Given the description of an element on the screen output the (x, y) to click on. 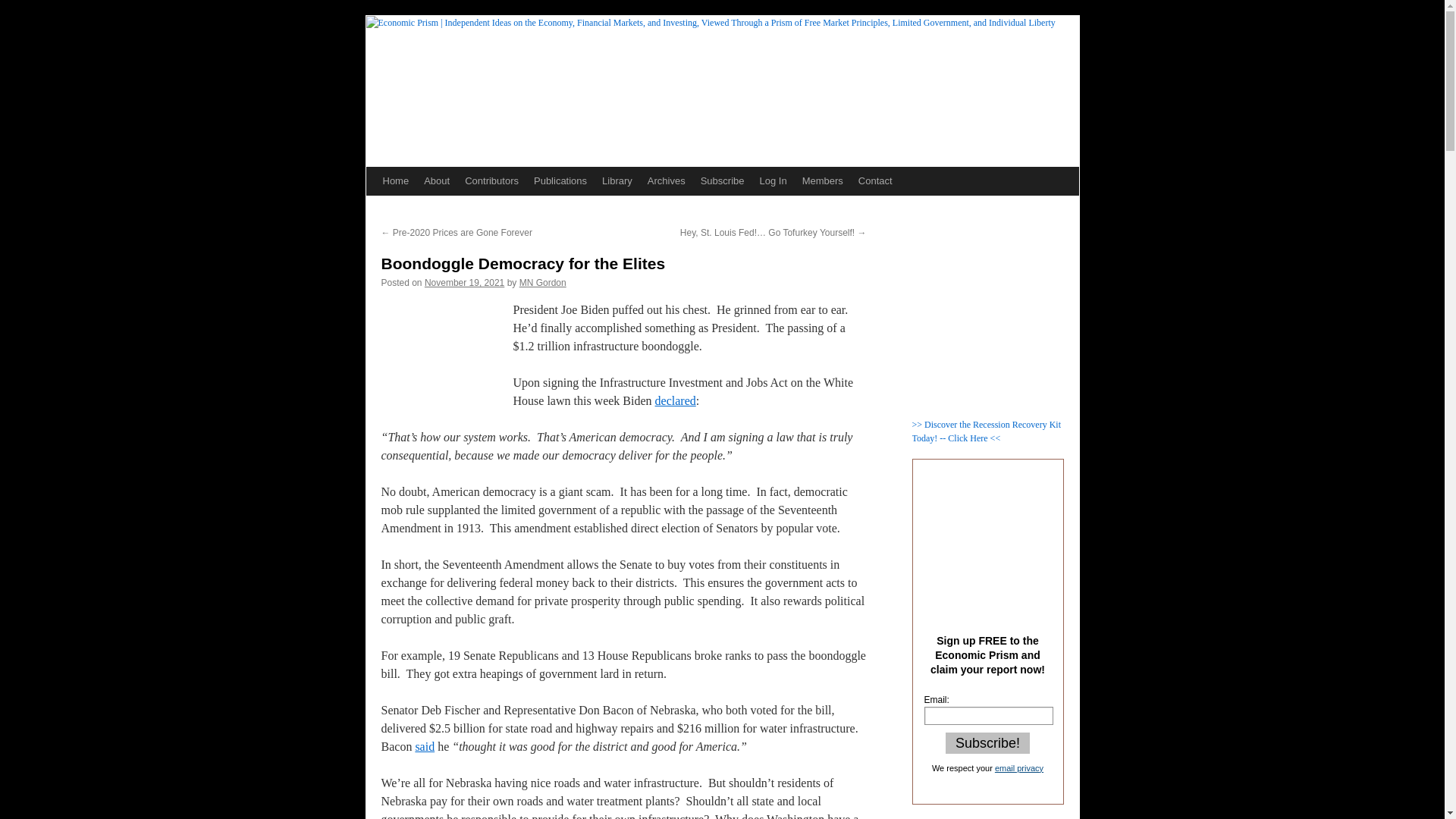
About (436, 181)
Archives (666, 181)
Library (617, 181)
Publications (559, 181)
Log In (773, 181)
Home (395, 181)
Privacy Policy (1018, 768)
Subscribe (722, 181)
said (423, 746)
1:05 am (464, 282)
